Given the description of an element on the screen output the (x, y) to click on. 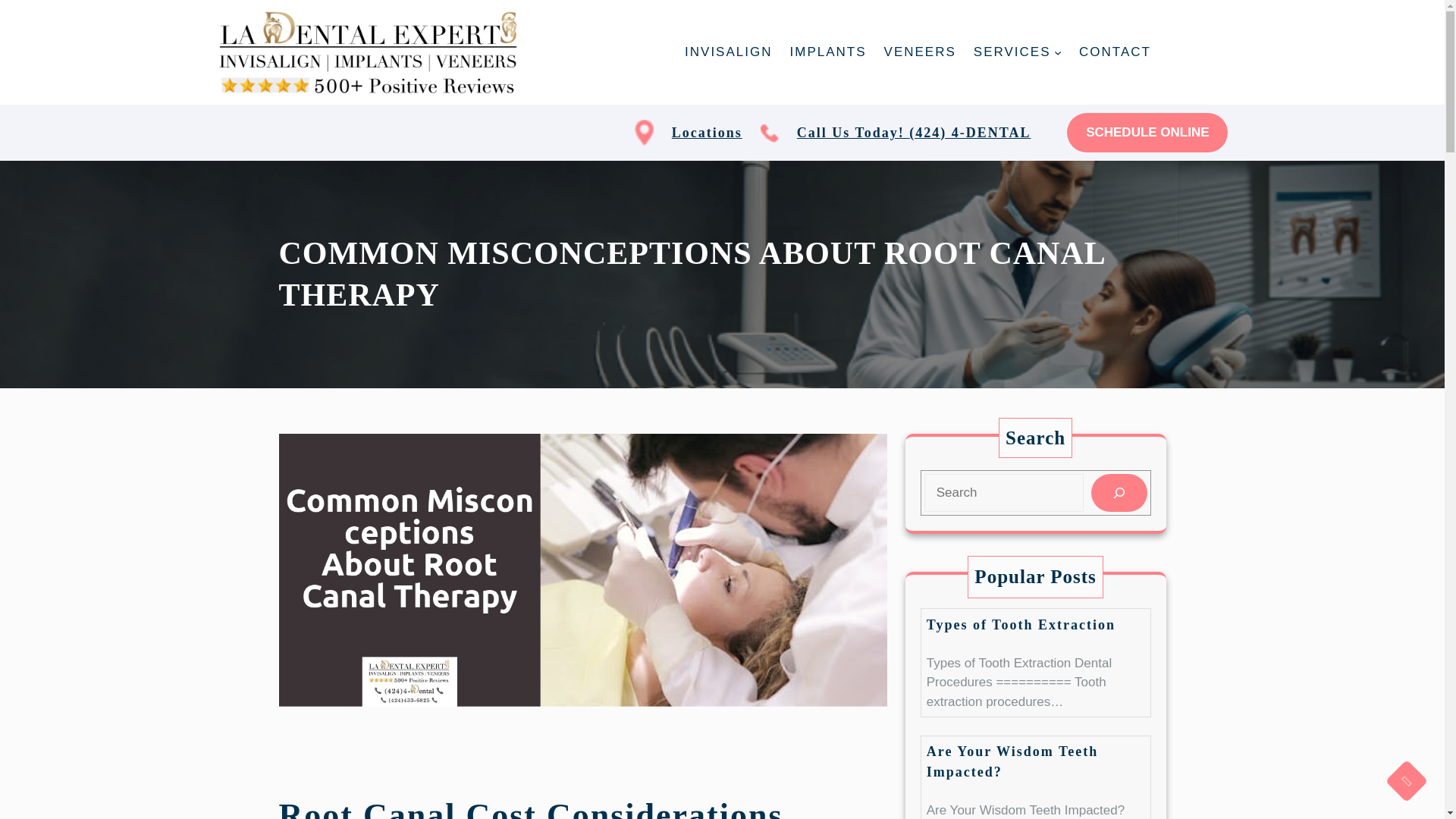
SERVICES (1012, 52)
VENEERS (919, 52)
IMPLANTS (828, 52)
INVISALIGN (727, 52)
